Given the description of an element on the screen output the (x, y) to click on. 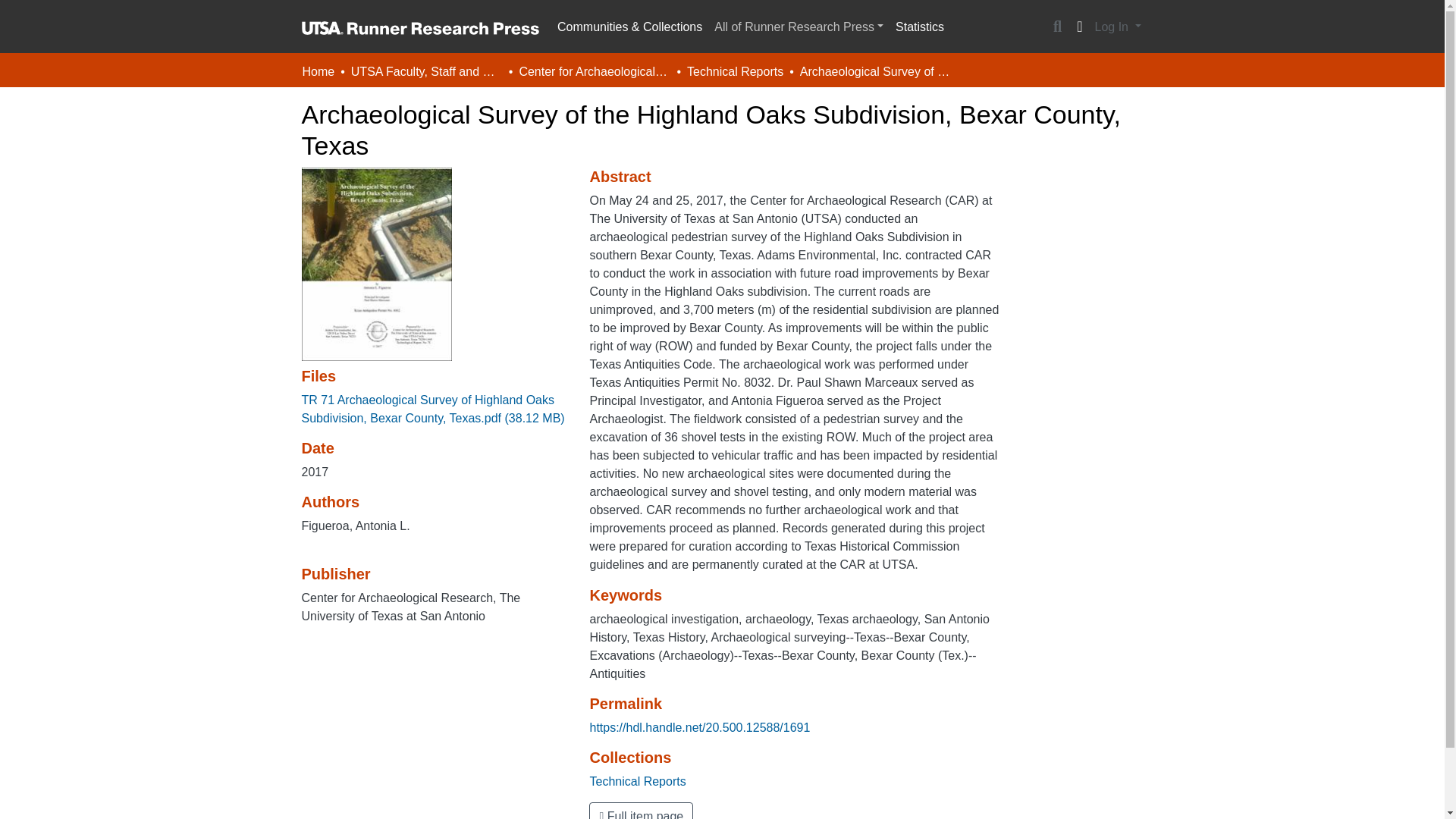
Statistics (919, 27)
Center for Archaeological Research (593, 72)
Home (317, 72)
Statistics (919, 27)
Search (1057, 27)
Technical Reports (637, 780)
Technical Reports (735, 72)
UTSA Faculty, Staff and Postdoctoral Researcher Work (426, 72)
Full item page (641, 810)
All of Runner Research Press (798, 27)
Language switch (1079, 27)
Log In (1117, 26)
